Given the description of an element on the screen output the (x, y) to click on. 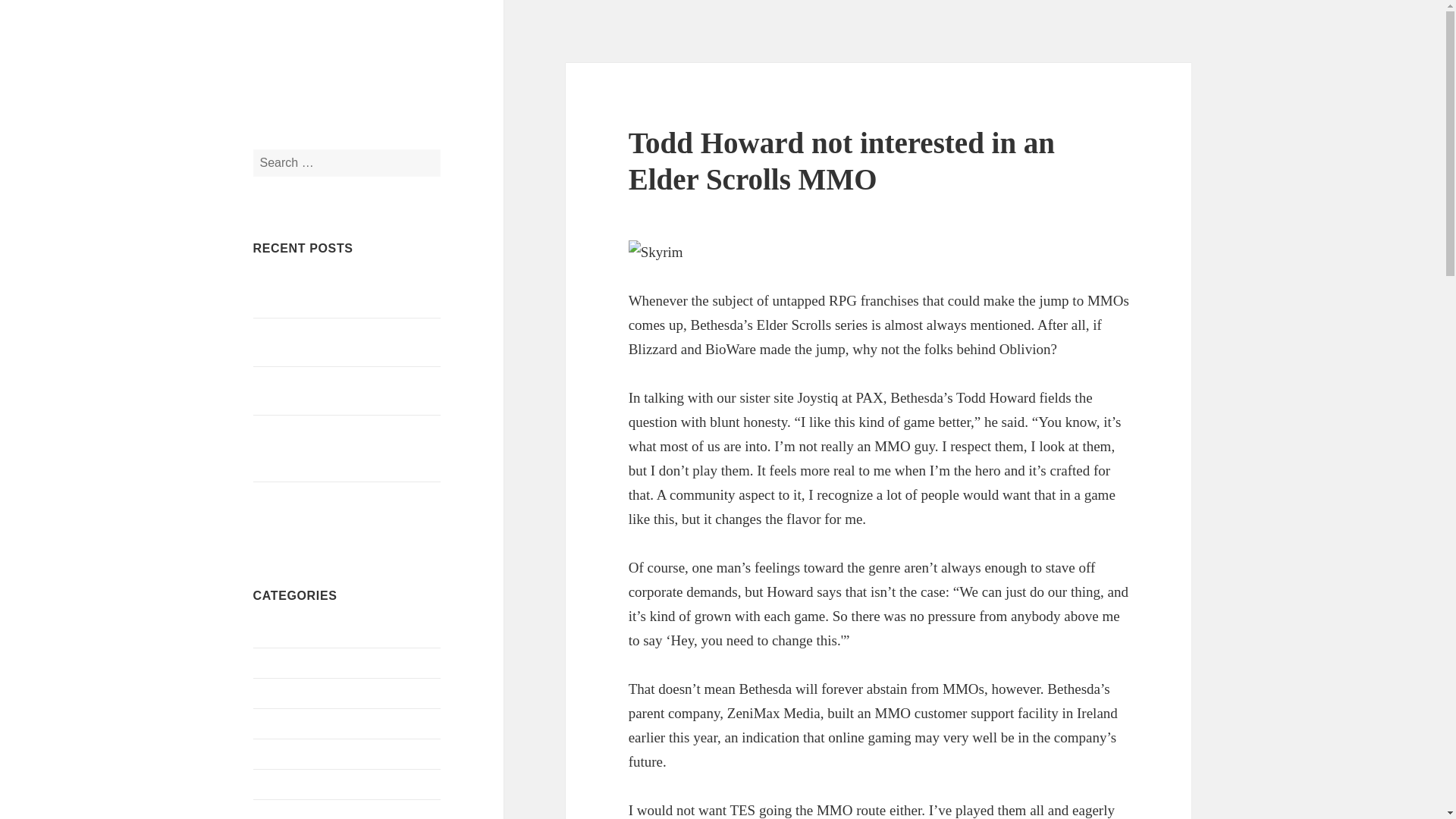
Ultimate Thunder Cage Build Guide: The First Descendant (343, 341)
Freyna Build Guide: Bossing and Mobbing Setups (333, 505)
COD MW3 (281, 692)
ELDERSCROLLSUPDATE (378, 74)
Fallout 76 Wolf Location Guide and its Role in the Game (341, 390)
ArcheAge (277, 662)
Dark and Darker (293, 753)
Albion Online (288, 631)
College Football 25 (301, 722)
